Given the description of an element on the screen output the (x, y) to click on. 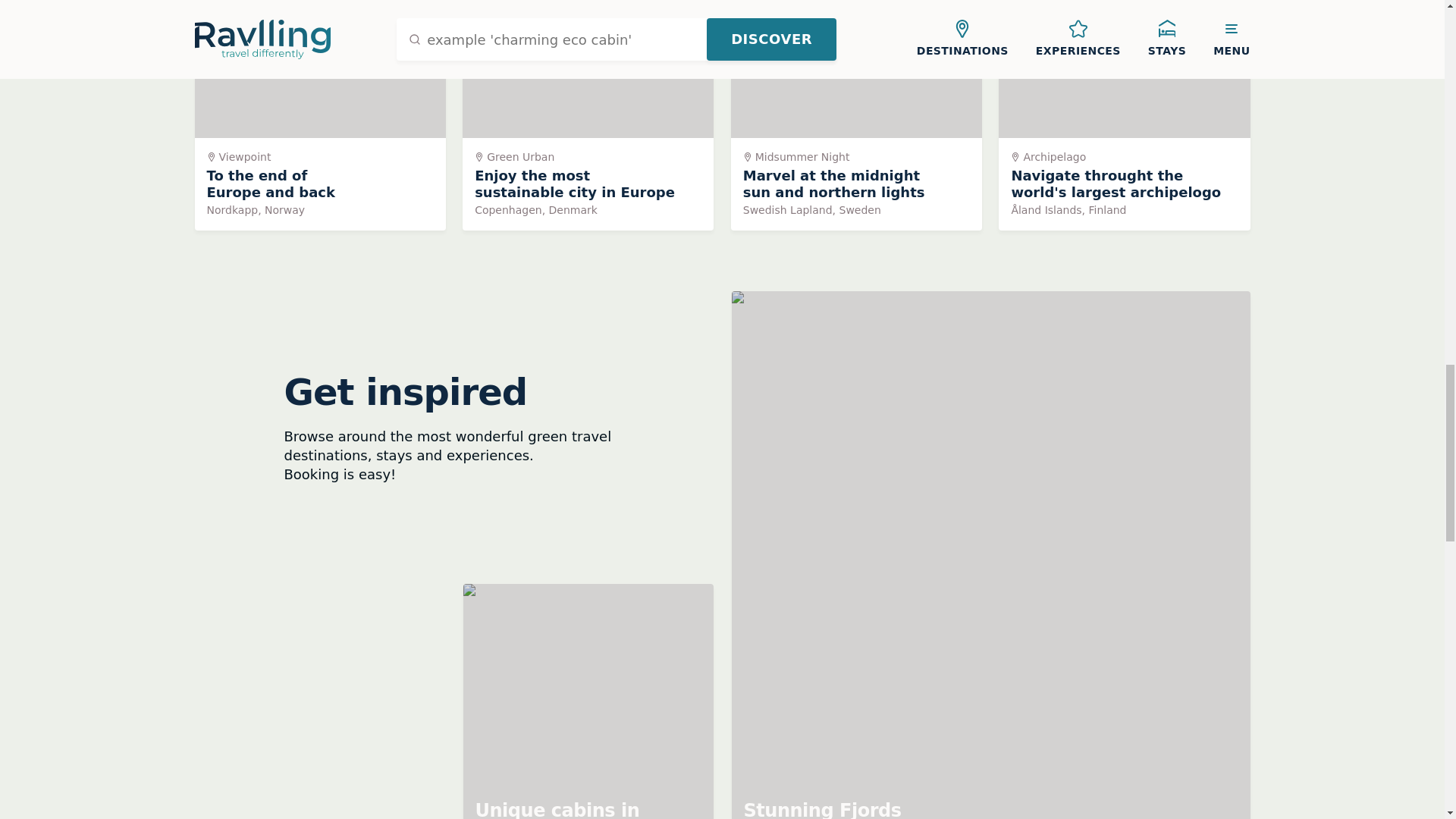
Unique cabins in outdoor Sweden (319, 115)
Marvel at the midnight sun and northern lights (588, 701)
Enjoy the most sustainable city in Europe (855, 115)
Stunning Fjords of Norway (588, 115)
To the end of Europe and back (1123, 115)
